Given the description of an element on the screen output the (x, y) to click on. 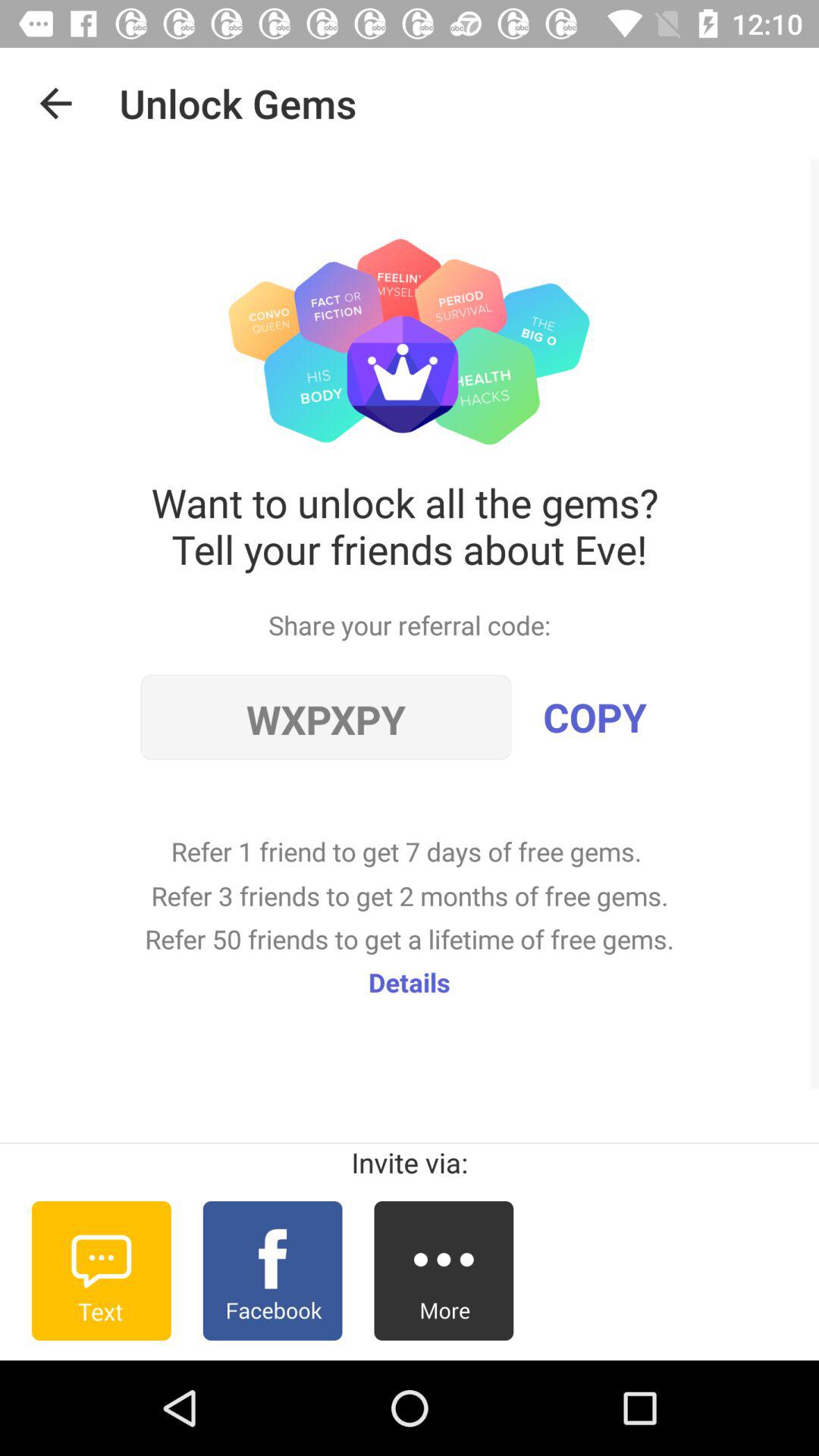
more options (443, 1270)
